Given the description of an element on the screen output the (x, y) to click on. 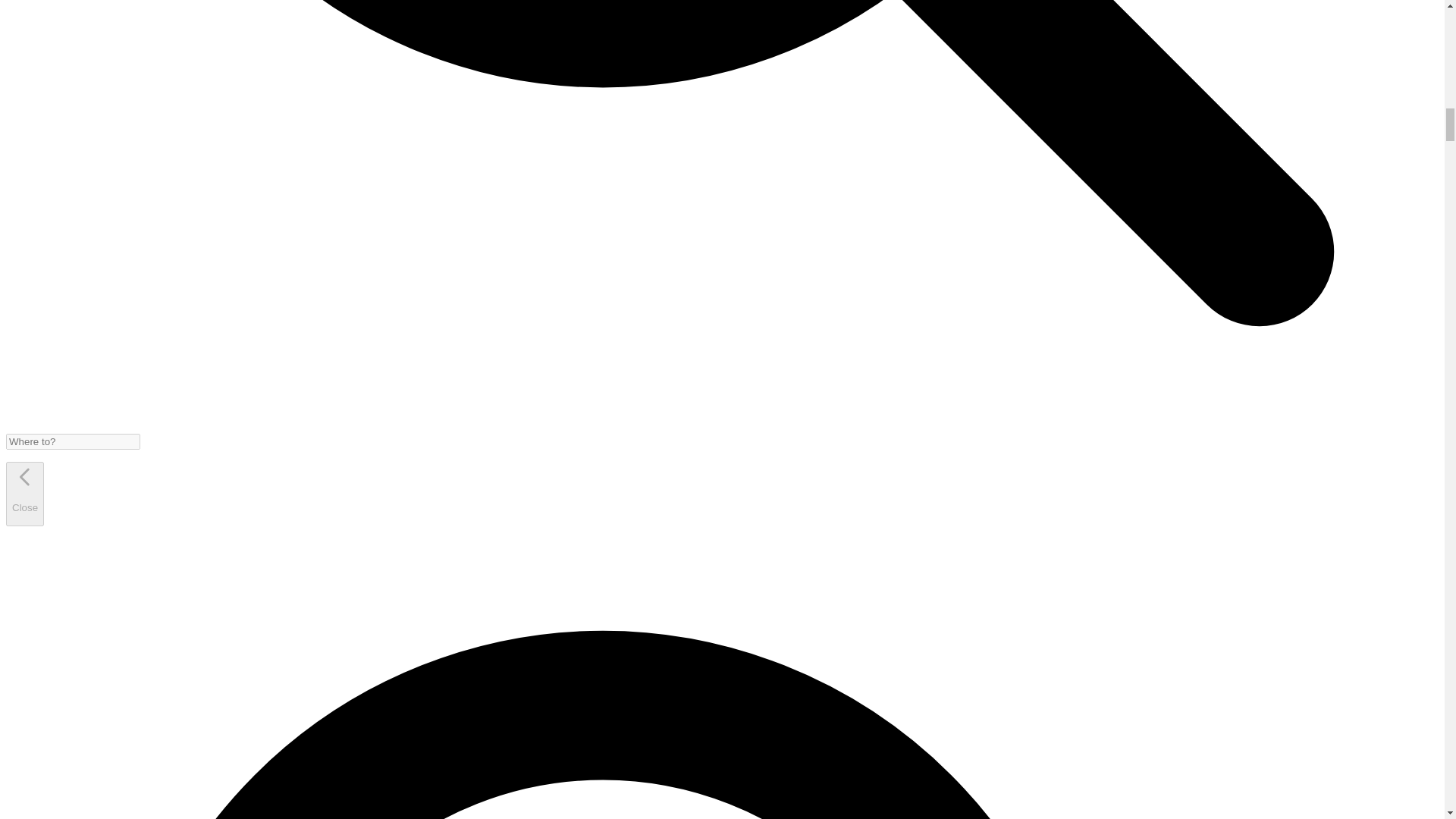
GoWithGuide (24, 476)
